Given the description of an element on the screen output the (x, y) to click on. 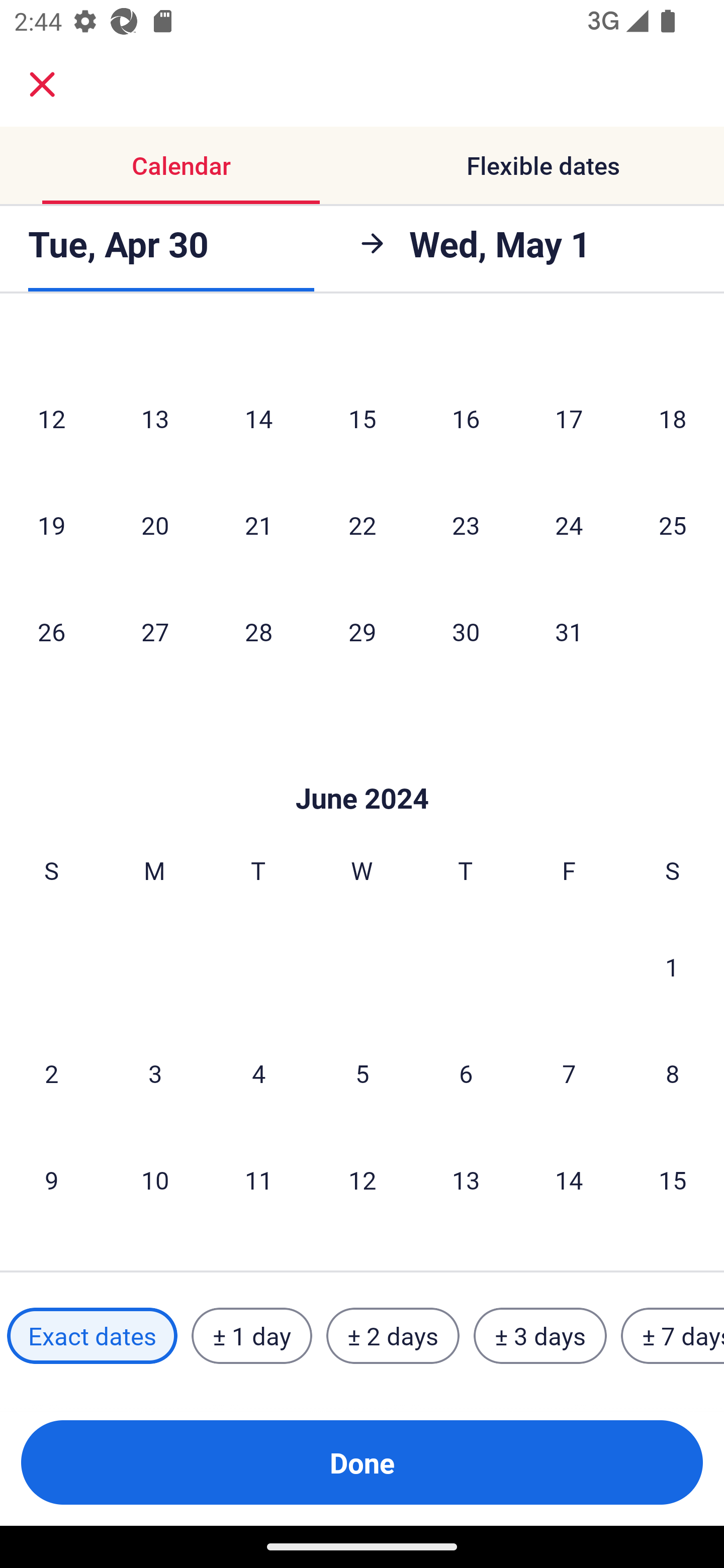
close. (42, 84)
Flexible dates (542, 164)
12 Sunday, May 12, 2024 (51, 418)
13 Monday, May 13, 2024 (155, 418)
14 Tuesday, May 14, 2024 (258, 418)
15 Wednesday, May 15, 2024 (362, 418)
16 Thursday, May 16, 2024 (465, 418)
17 Friday, May 17, 2024 (569, 418)
18 Saturday, May 18, 2024 (672, 418)
19 Sunday, May 19, 2024 (51, 525)
20 Monday, May 20, 2024 (155, 525)
21 Tuesday, May 21, 2024 (258, 525)
22 Wednesday, May 22, 2024 (362, 525)
23 Thursday, May 23, 2024 (465, 525)
24 Friday, May 24, 2024 (569, 525)
25 Saturday, May 25, 2024 (672, 525)
26 Sunday, May 26, 2024 (51, 631)
27 Monday, May 27, 2024 (155, 631)
28 Tuesday, May 28, 2024 (258, 631)
29 Wednesday, May 29, 2024 (362, 631)
30 Thursday, May 30, 2024 (465, 631)
31 Friday, May 31, 2024 (569, 631)
Skip to Done (362, 767)
1 Saturday, June 1, 2024 (672, 966)
2 Sunday, June 2, 2024 (51, 1073)
3 Monday, June 3, 2024 (155, 1073)
4 Tuesday, June 4, 2024 (258, 1073)
5 Wednesday, June 5, 2024 (362, 1073)
6 Thursday, June 6, 2024 (465, 1073)
7 Friday, June 7, 2024 (569, 1073)
8 Saturday, June 8, 2024 (672, 1073)
9 Sunday, June 9, 2024 (51, 1179)
10 Monday, June 10, 2024 (155, 1179)
11 Tuesday, June 11, 2024 (258, 1179)
12 Wednesday, June 12, 2024 (362, 1179)
13 Thursday, June 13, 2024 (465, 1179)
14 Friday, June 14, 2024 (569, 1179)
15 Saturday, June 15, 2024 (672, 1179)
Exact dates (92, 1335)
± 1 day (251, 1335)
± 2 days (392, 1335)
± 3 days (539, 1335)
± 7 days (672, 1335)
Done (361, 1462)
